Given the description of an element on the screen output the (x, y) to click on. 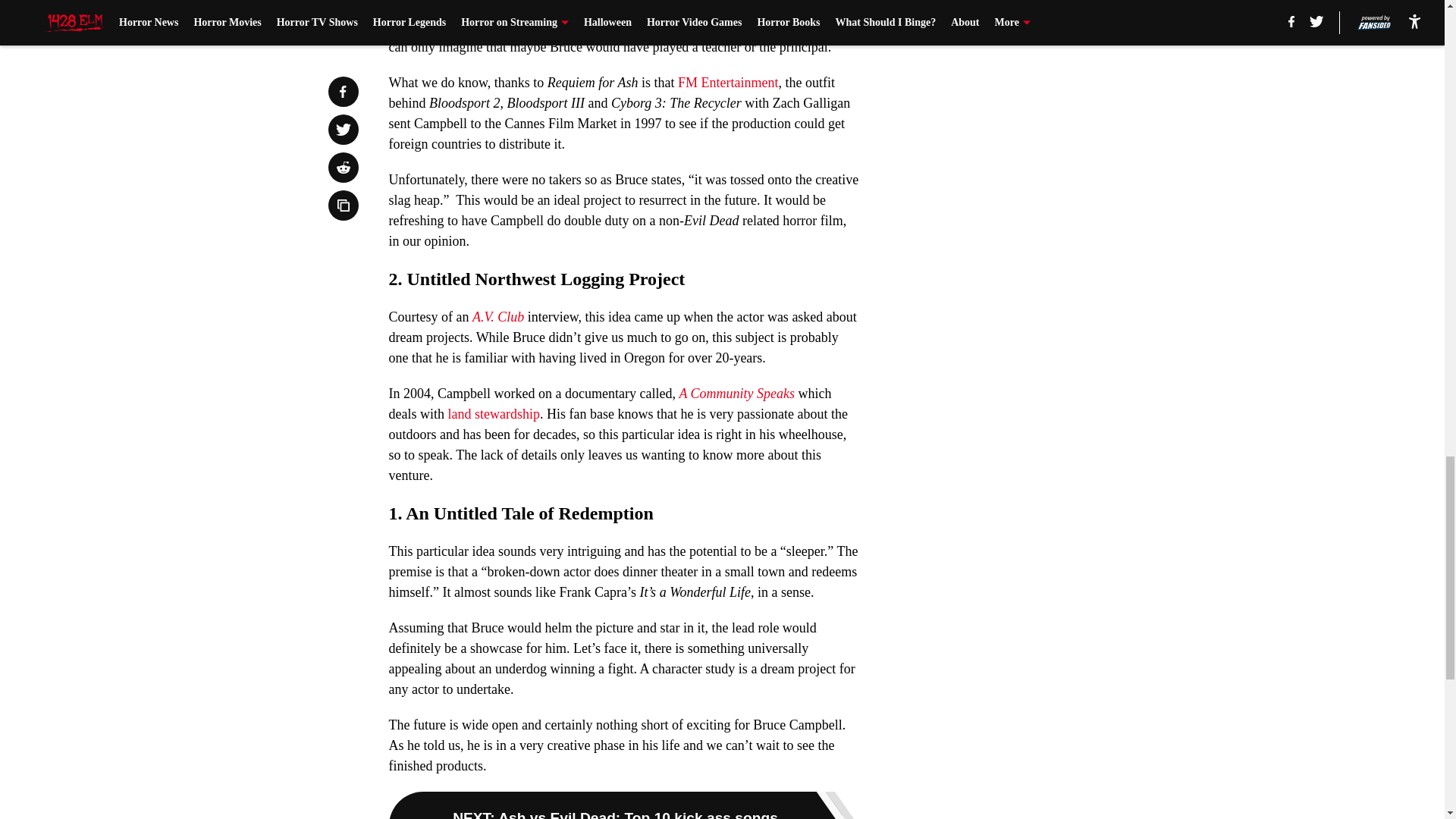
FM Entertainment (727, 82)
A.V. Club (497, 316)
land stewardship (492, 413)
NEXT: Ash vs Evil Dead: Top 10 kick ass songs from the show (623, 805)
A Community Speaks (736, 393)
